Given the description of an element on the screen output the (x, y) to click on. 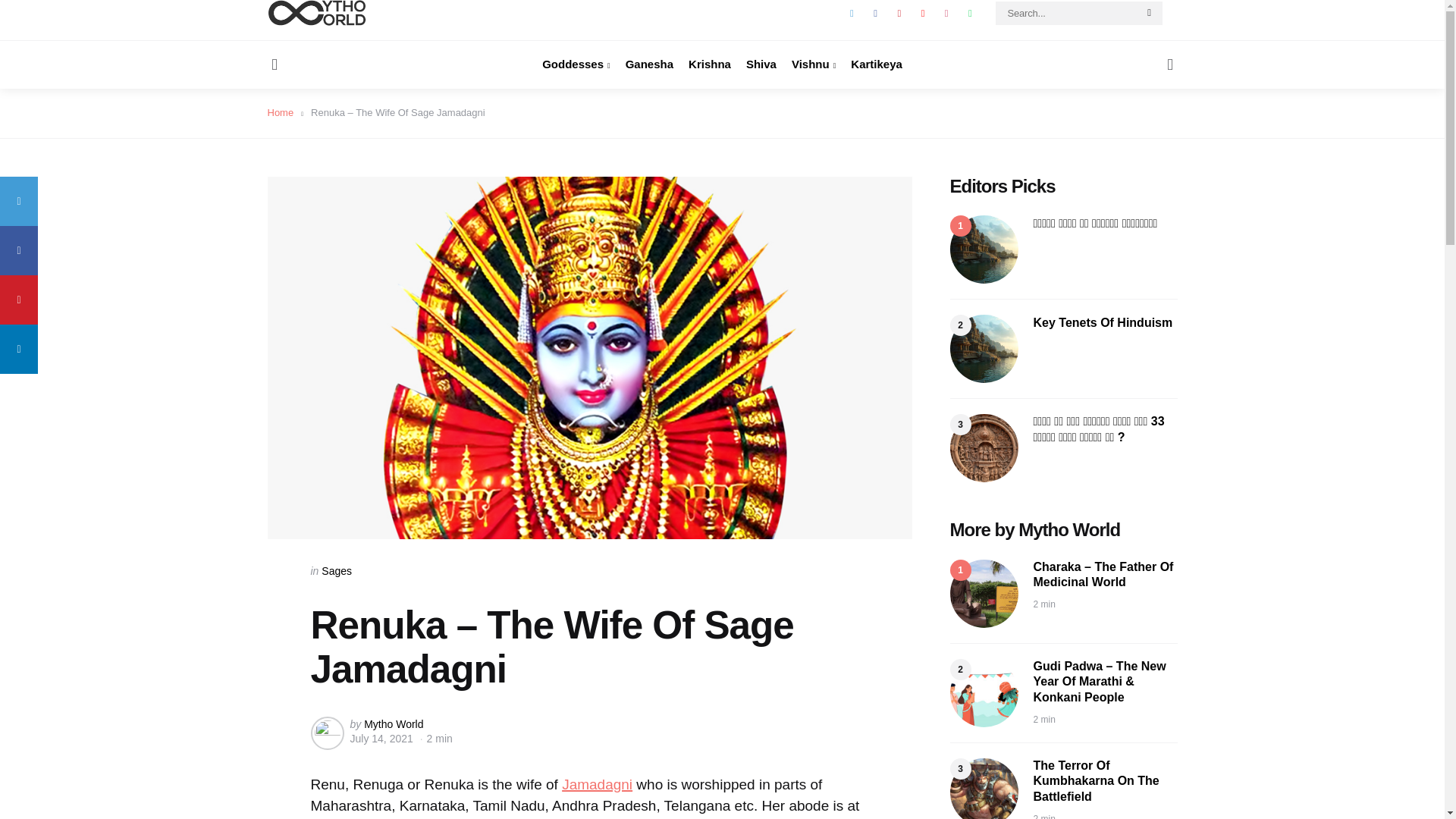
Goddesses (575, 64)
Kartikeya (876, 64)
Vishnu (813, 64)
Shiva (760, 64)
Ganesha (649, 64)
Krishna (709, 64)
Home (284, 112)
Search (1149, 13)
